Given the description of an element on the screen output the (x, y) to click on. 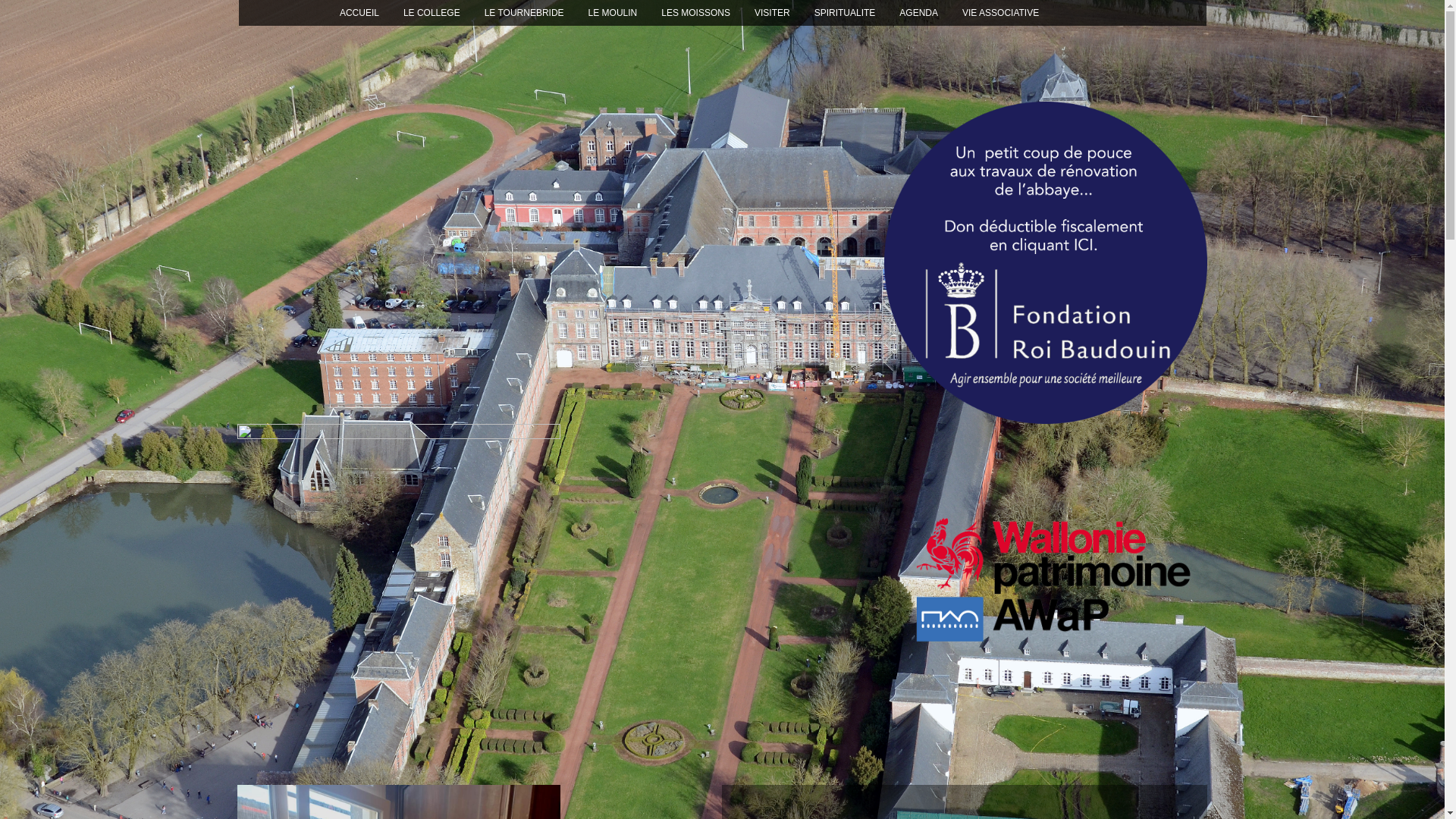
LE COLLEGE Element type: text (431, 12)
LES MOISSONS Element type: text (695, 12)
TRAVAUX Element type: text (1084, 12)
SPIRITUALITE Element type: text (845, 12)
LE TOURNEBRIDE Element type: text (524, 12)
AGENDA Element type: text (918, 12)
LE MOULIN Element type: text (612, 12)
VISITER Element type: text (772, 12)
VIE ASSOCIATIVE Element type: text (1000, 12)
ACCUEIL Element type: text (359, 12)
